Given the description of an element on the screen output the (x, y) to click on. 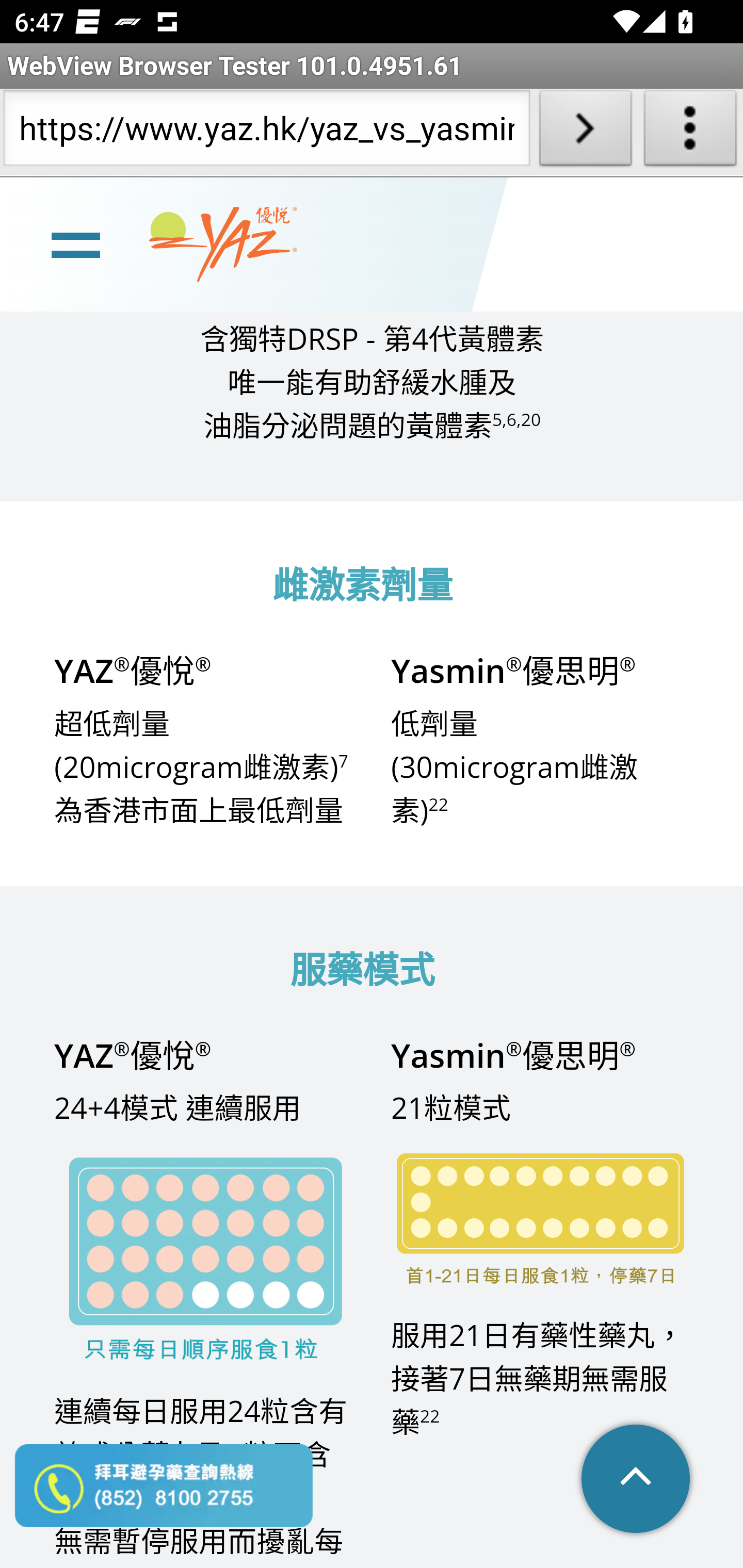
Load URL (585, 132)
About WebView (690, 132)
www.yaz (222, 245)
line Toggle burger menu (75, 245)
 (636, 1481)
